Given the description of an element on the screen output the (x, y) to click on. 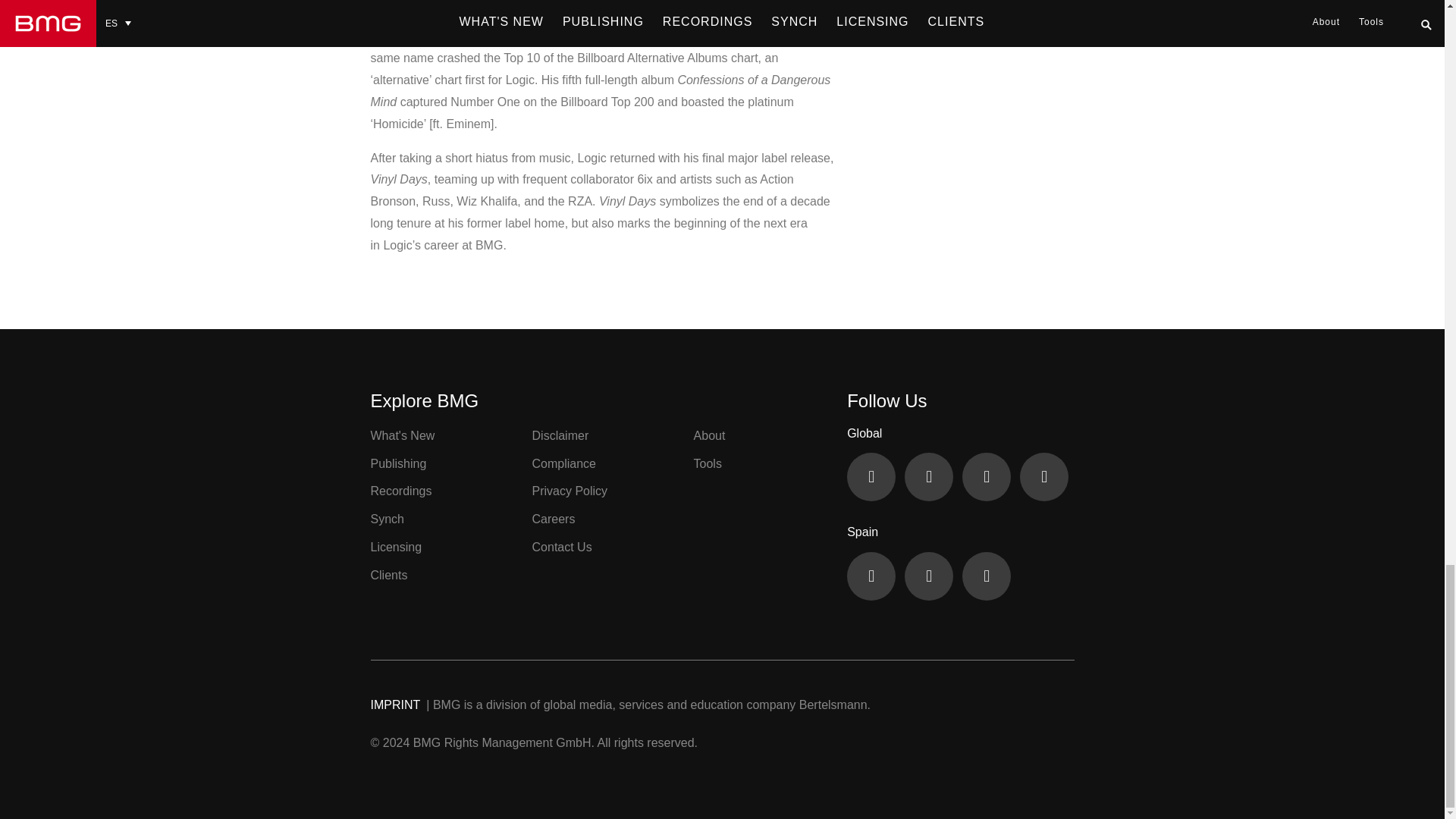
Contact Us (562, 546)
Publishing (397, 463)
Synch (386, 518)
Recordings (399, 490)
Careers (553, 518)
Clients (388, 574)
Instagram (1044, 476)
Instagram (986, 576)
Compliance (563, 463)
What's New (401, 435)
